Given the description of an element on the screen output the (x, y) to click on. 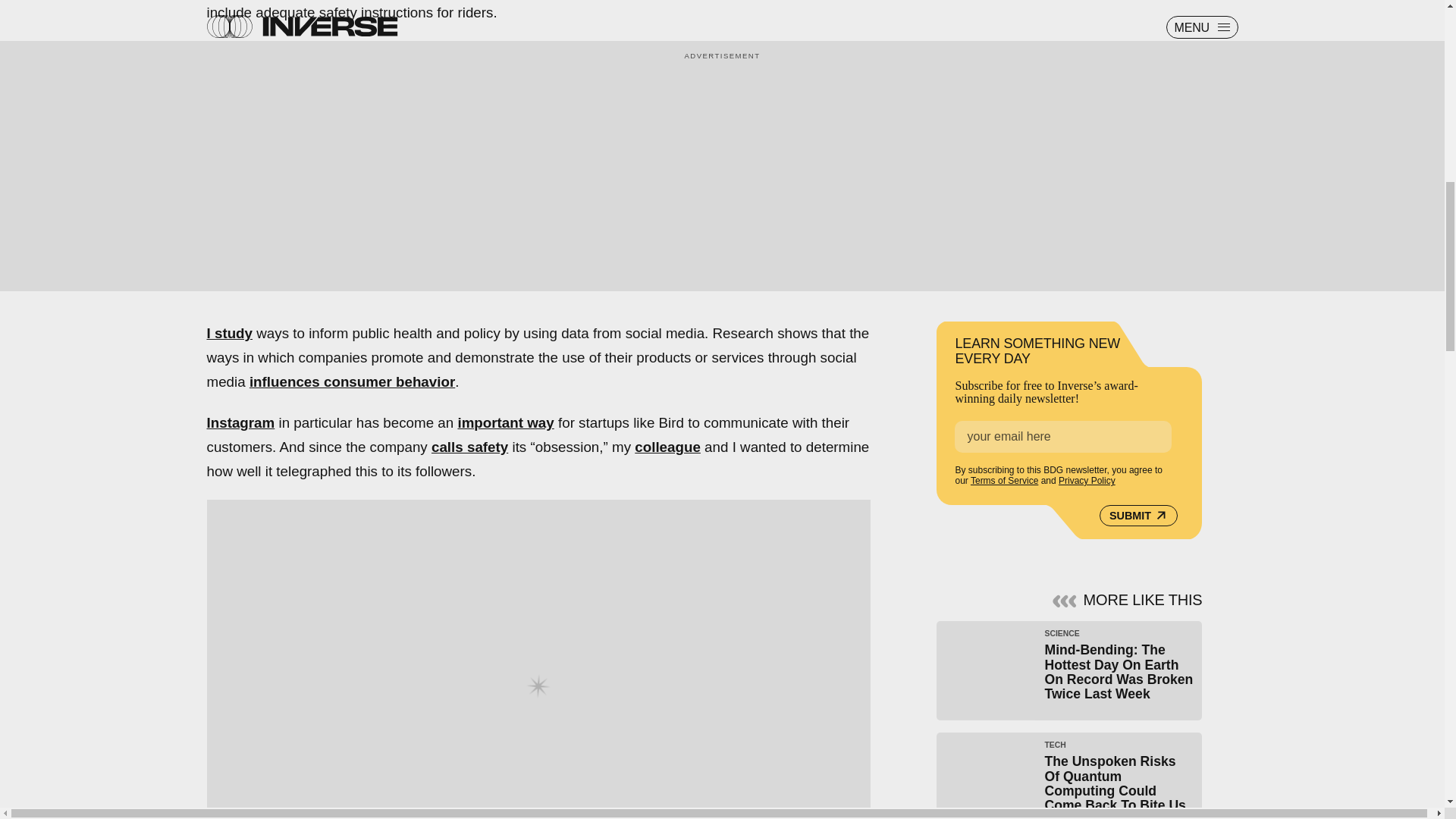
colleague (667, 446)
Privacy Policy (1086, 480)
Instagram (240, 422)
Terms of Service (1004, 480)
calls safety (469, 446)
SUBMIT (1138, 515)
important way (505, 422)
I study (228, 333)
